Given the description of an element on the screen output the (x, y) to click on. 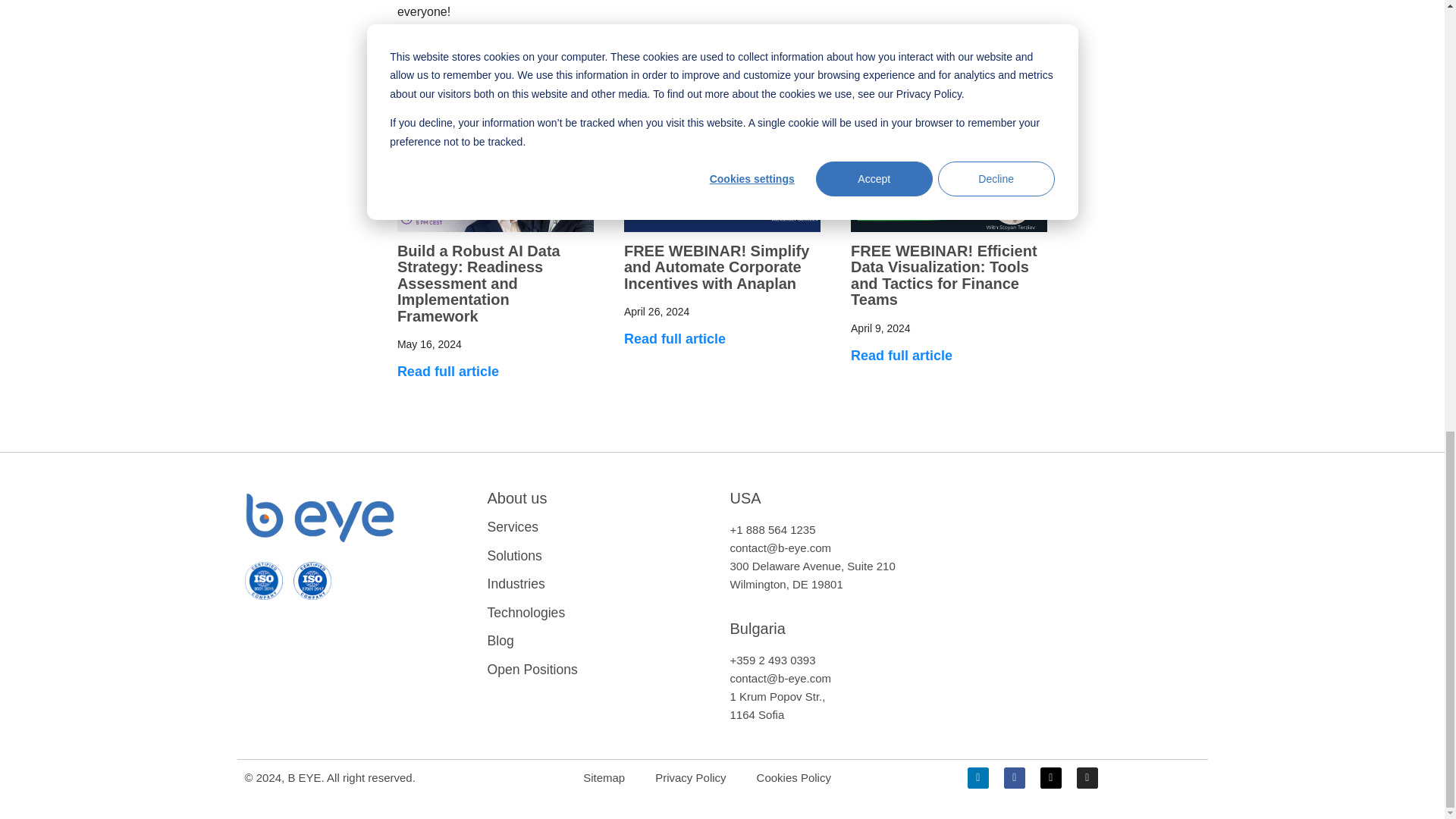
Form 0 (1085, 550)
